Given the description of an element on the screen output the (x, y) to click on. 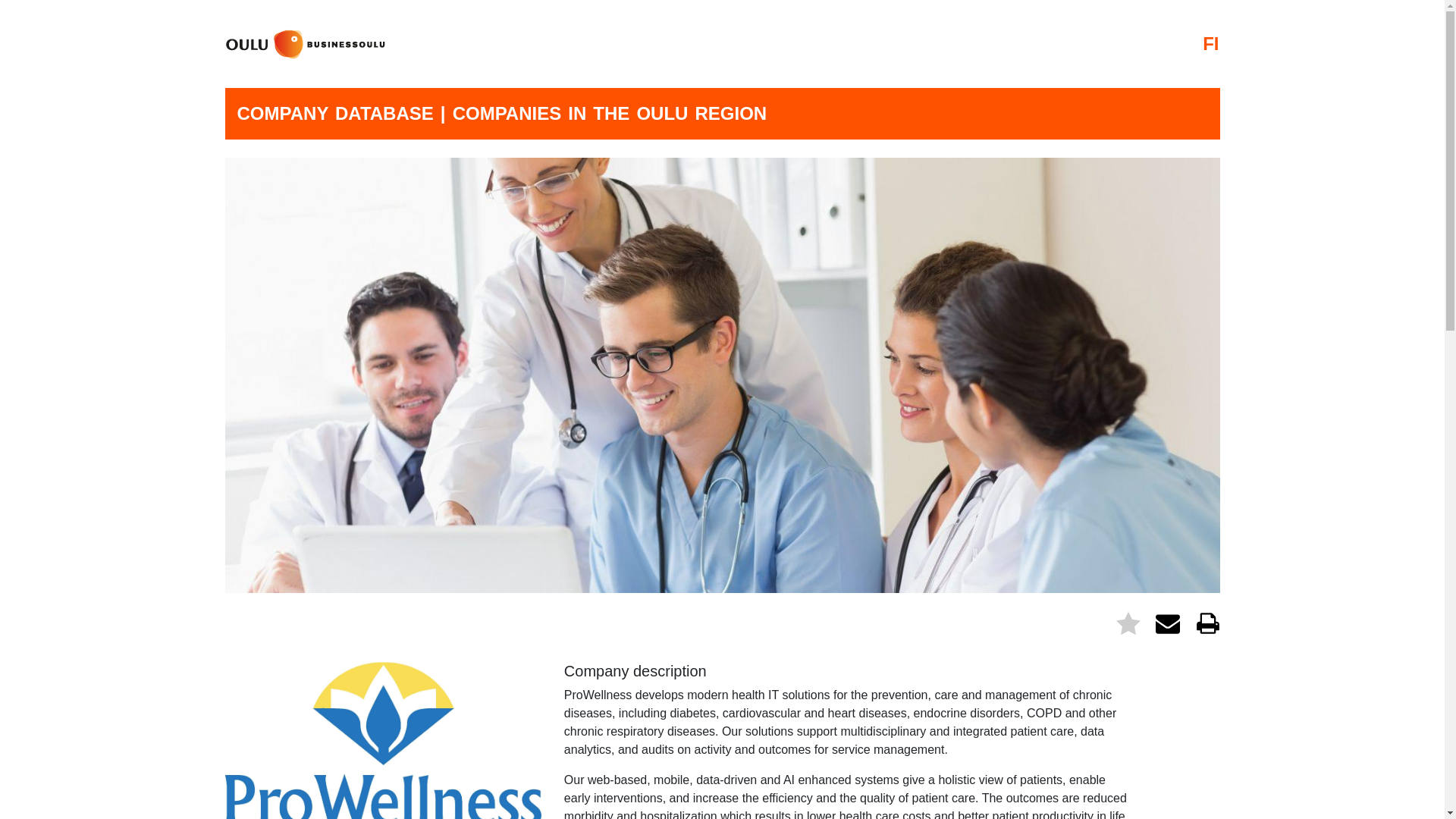
FI (1210, 43)
Share to email (1169, 621)
Print (1207, 621)
